Given the description of an element on the screen output the (x, y) to click on. 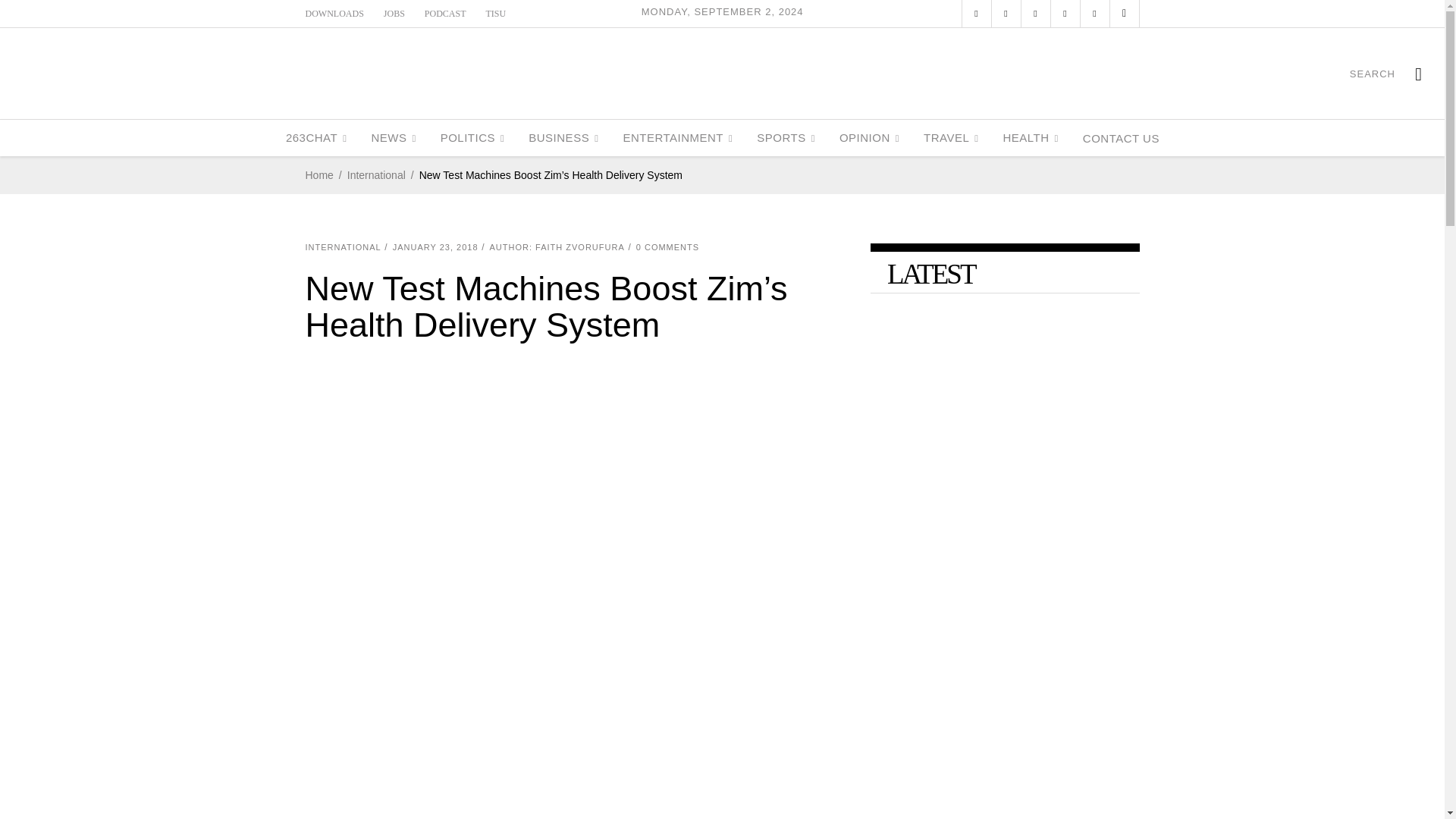
NEWS (393, 137)
POLITICS (472, 137)
JOBS (394, 13)
263CHAT (316, 137)
TISU (496, 13)
PODCAST (445, 13)
DOWNLOADS (333, 13)
